Given the description of an element on the screen output the (x, y) to click on. 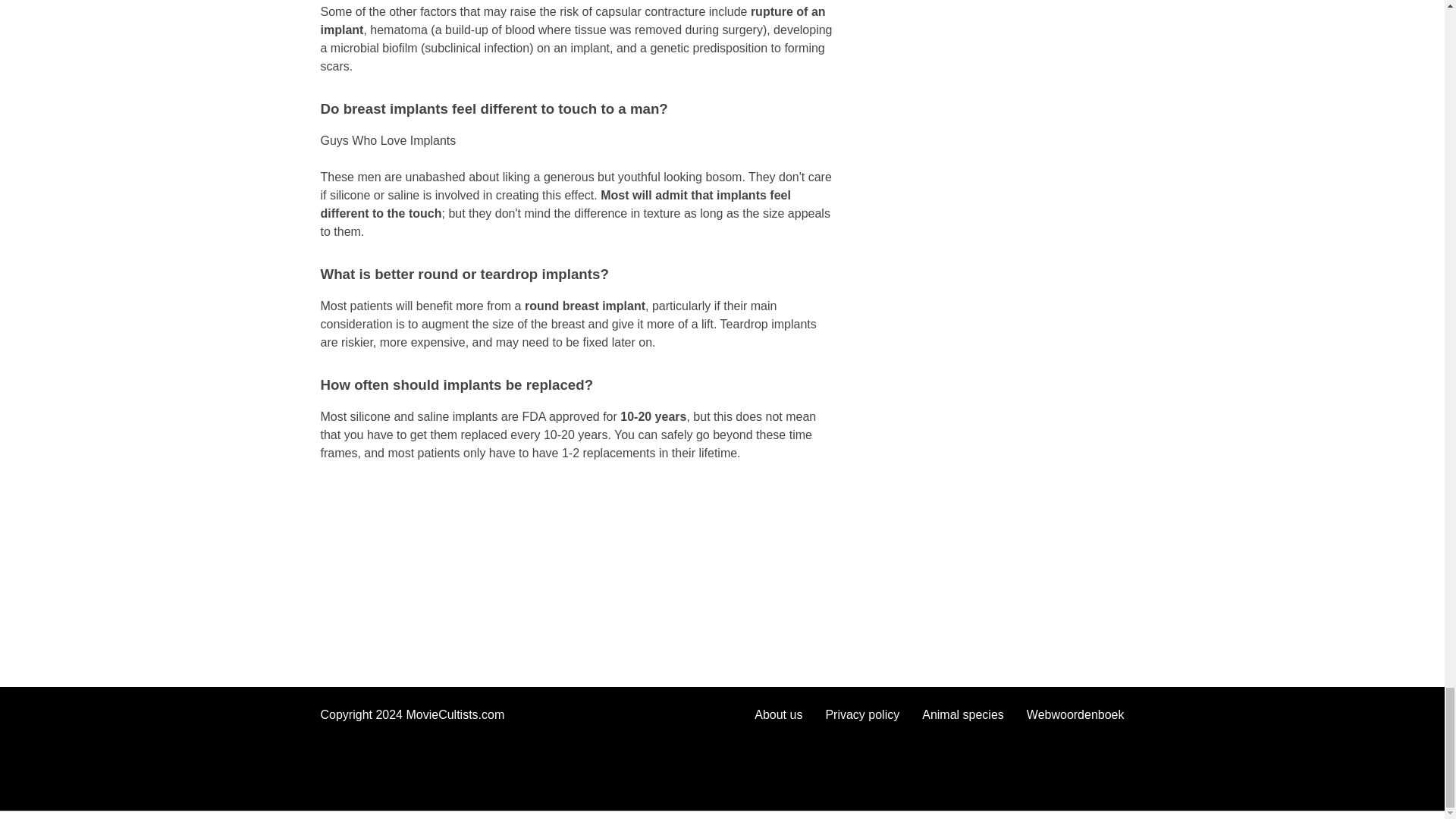
Animal species (962, 714)
About us (778, 714)
Webwoordenboek (1075, 714)
Privacy policy (862, 714)
